Given the description of an element on the screen output the (x, y) to click on. 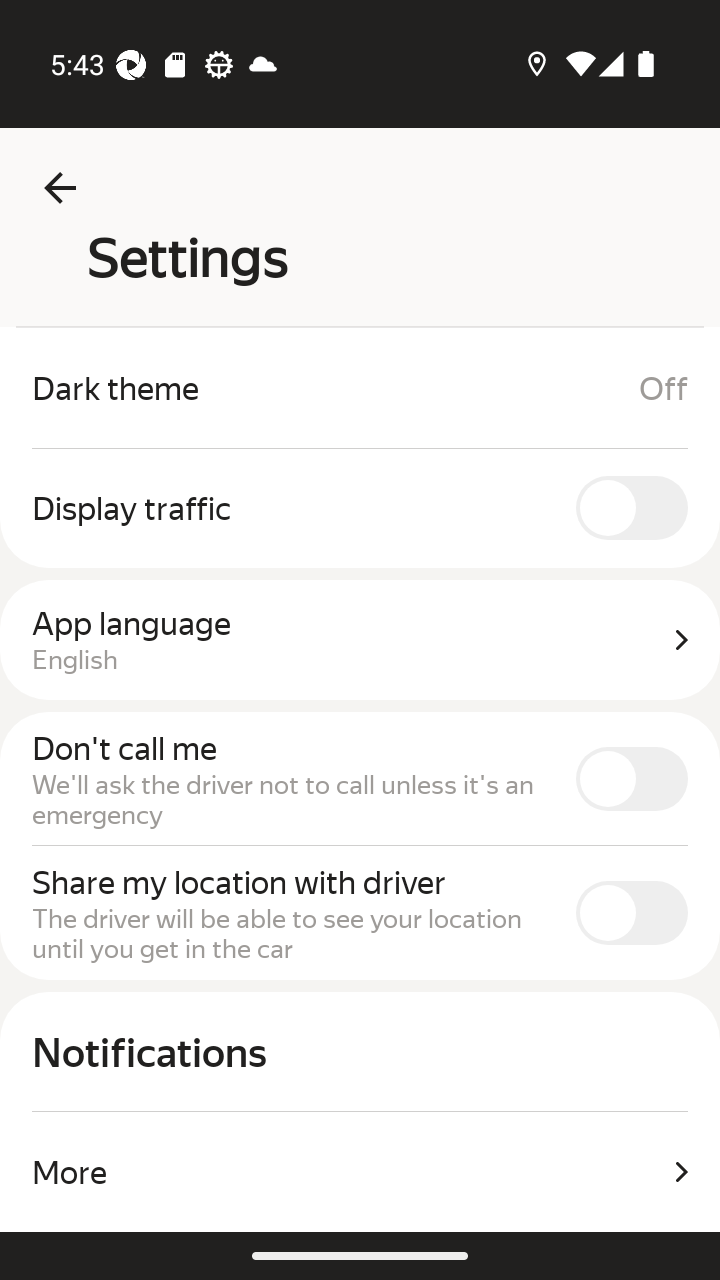
Back (60, 188)
Dark theme Dark theme Off Off (360, 387)
Display traffic (360, 508)
App language, English App language English (360, 639)
More (360, 1171)
